Given the description of an element on the screen output the (x, y) to click on. 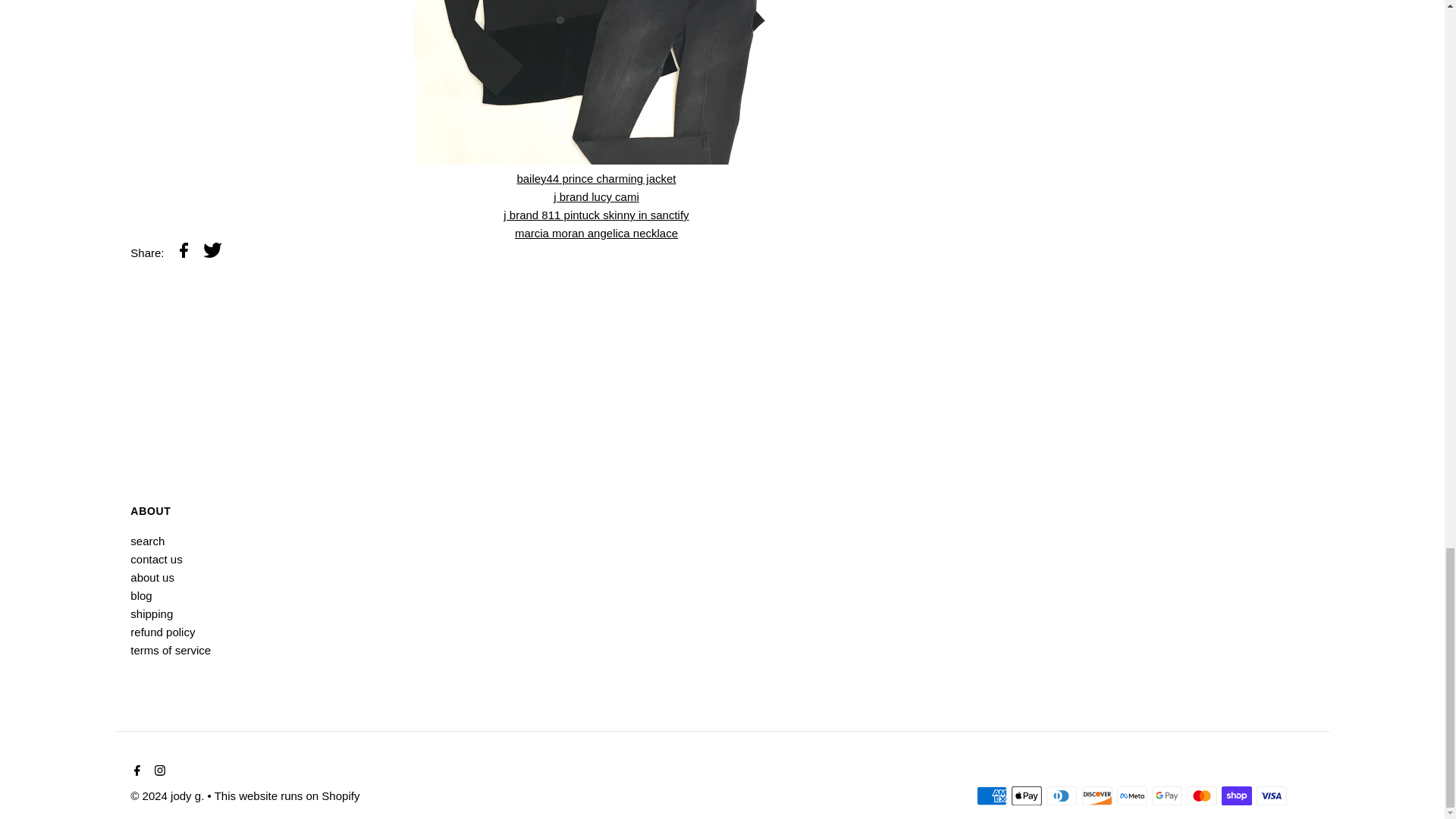
Google Pay (1166, 795)
Share on Twitter (212, 252)
Meta Pay (1131, 795)
Discover (1096, 795)
Mastercard (1201, 795)
American Express (991, 795)
Diners Club (1061, 795)
Apple Pay (1026, 795)
